Given the description of an element on the screen output the (x, y) to click on. 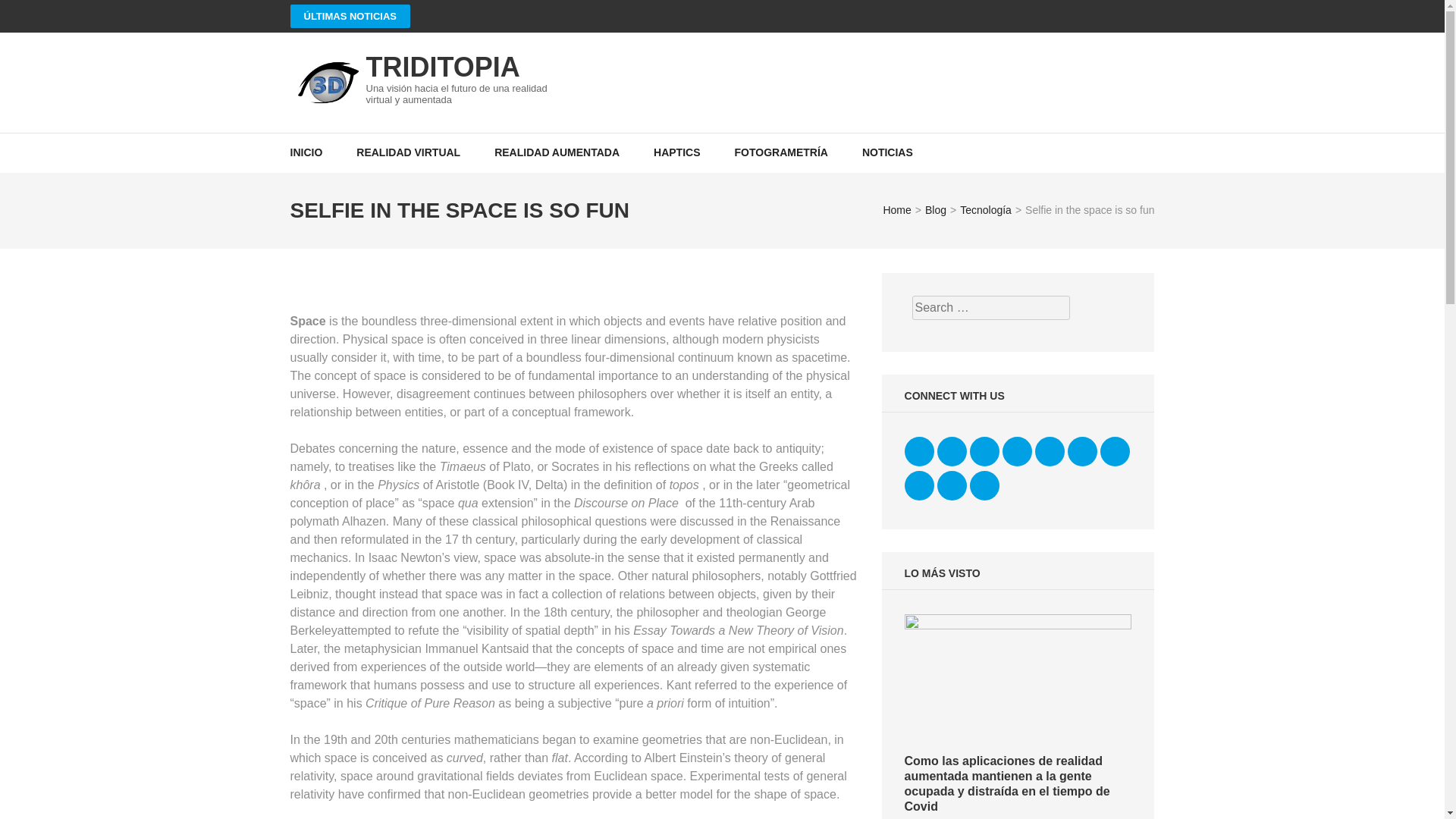
REALIDAD VIRTUAL (408, 152)
HAPTICS (676, 152)
TRIDITOPIA (442, 66)
REALIDAD AUMENTADA (557, 152)
NOTICIAS (886, 152)
Facebook (919, 451)
